Given the description of an element on the screen output the (x, y) to click on. 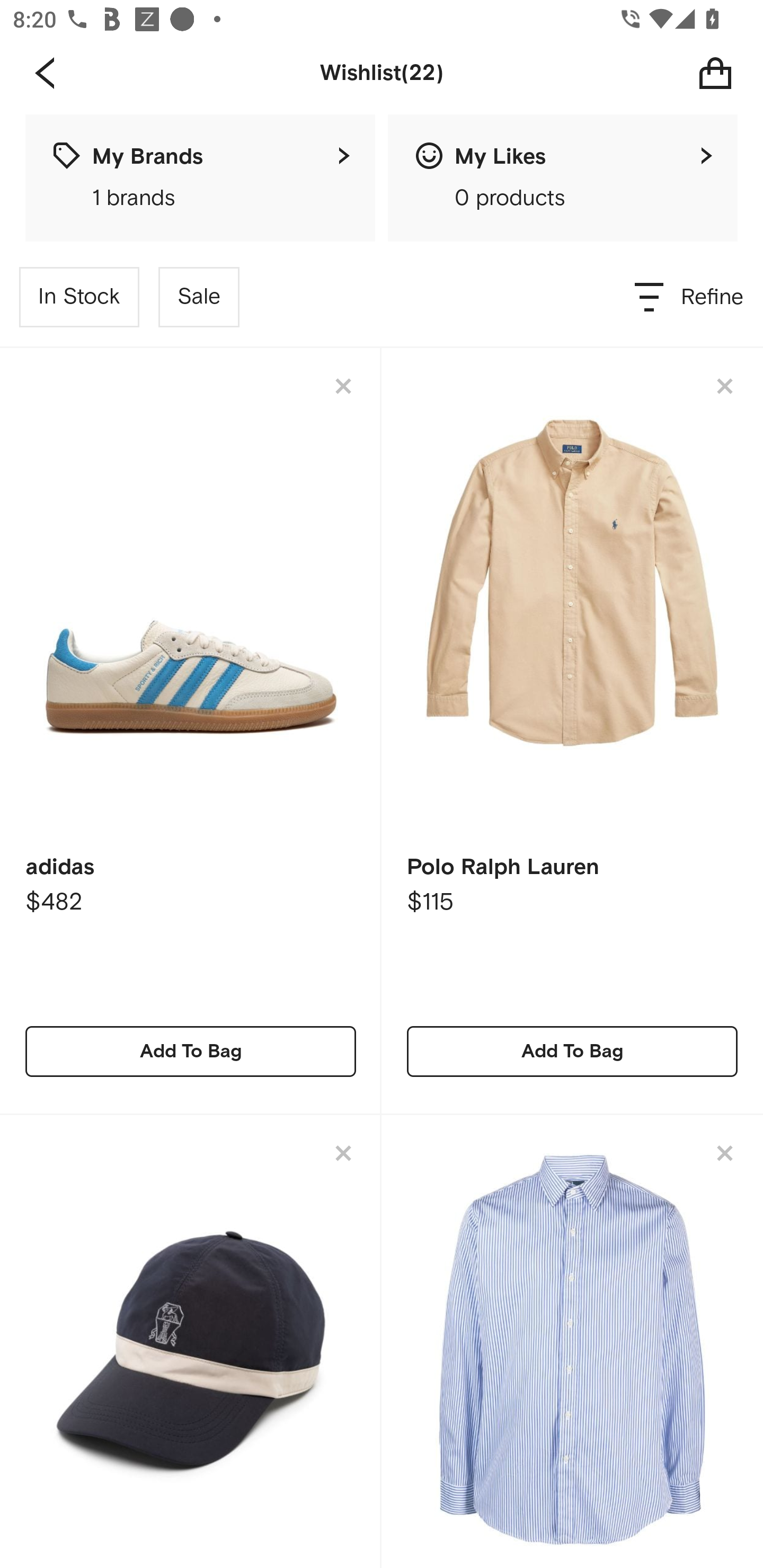
My Brands 1 brands (200, 177)
My Likes 0 products (562, 177)
In Stock (79, 296)
Sale (198, 296)
Refine (690, 296)
adidas $482 Add To Bag (190, 731)
Polo Ralph Lauren $115 Add To Bag (572, 731)
Add To Bag (190, 1050)
Add To Bag (571, 1050)
